Given the description of an element on the screen output the (x, y) to click on. 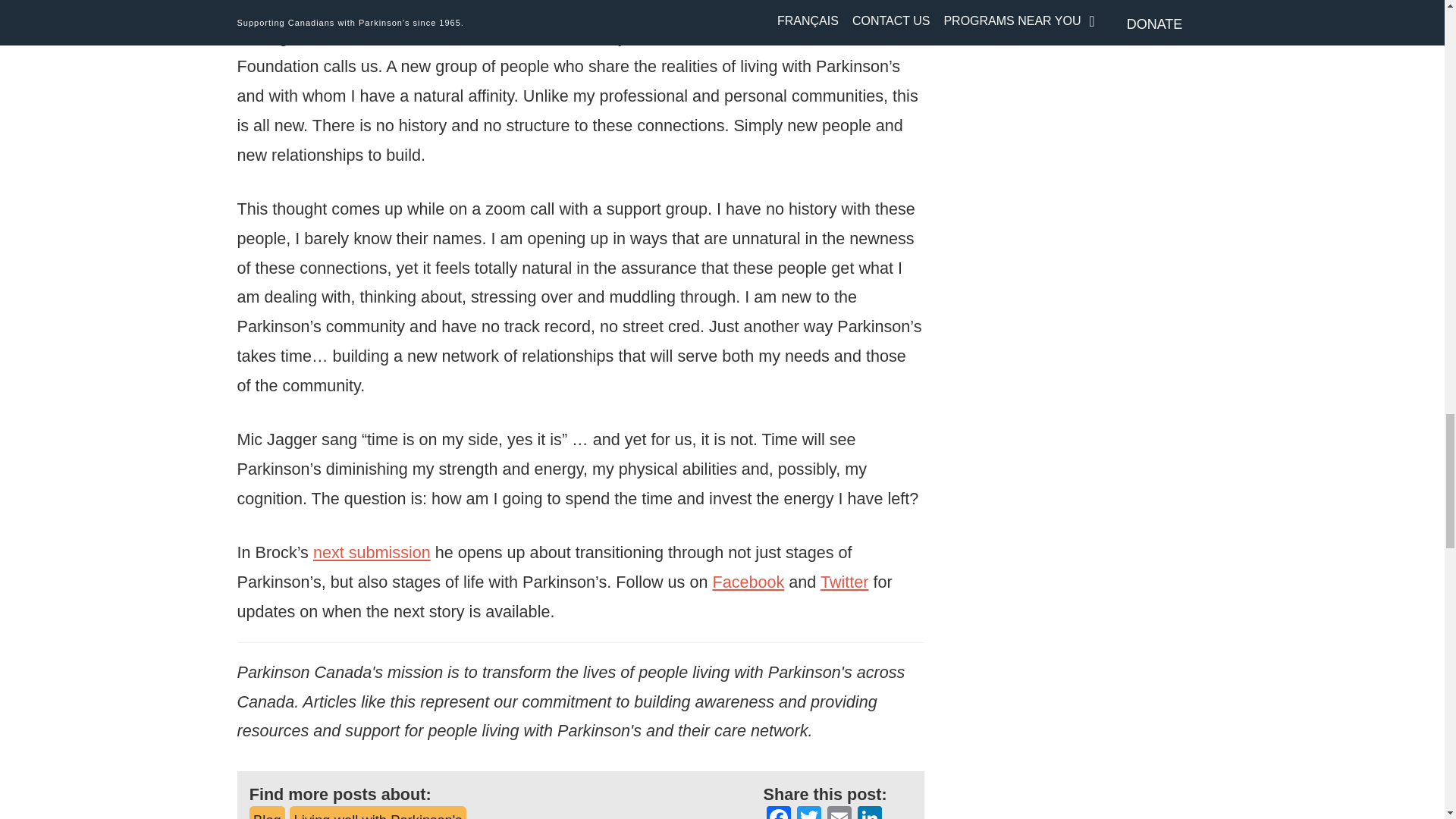
Facebook (777, 812)
Twitter (808, 812)
LinkedIn (869, 812)
Email (839, 812)
